Given the description of an element on the screen output the (x, y) to click on. 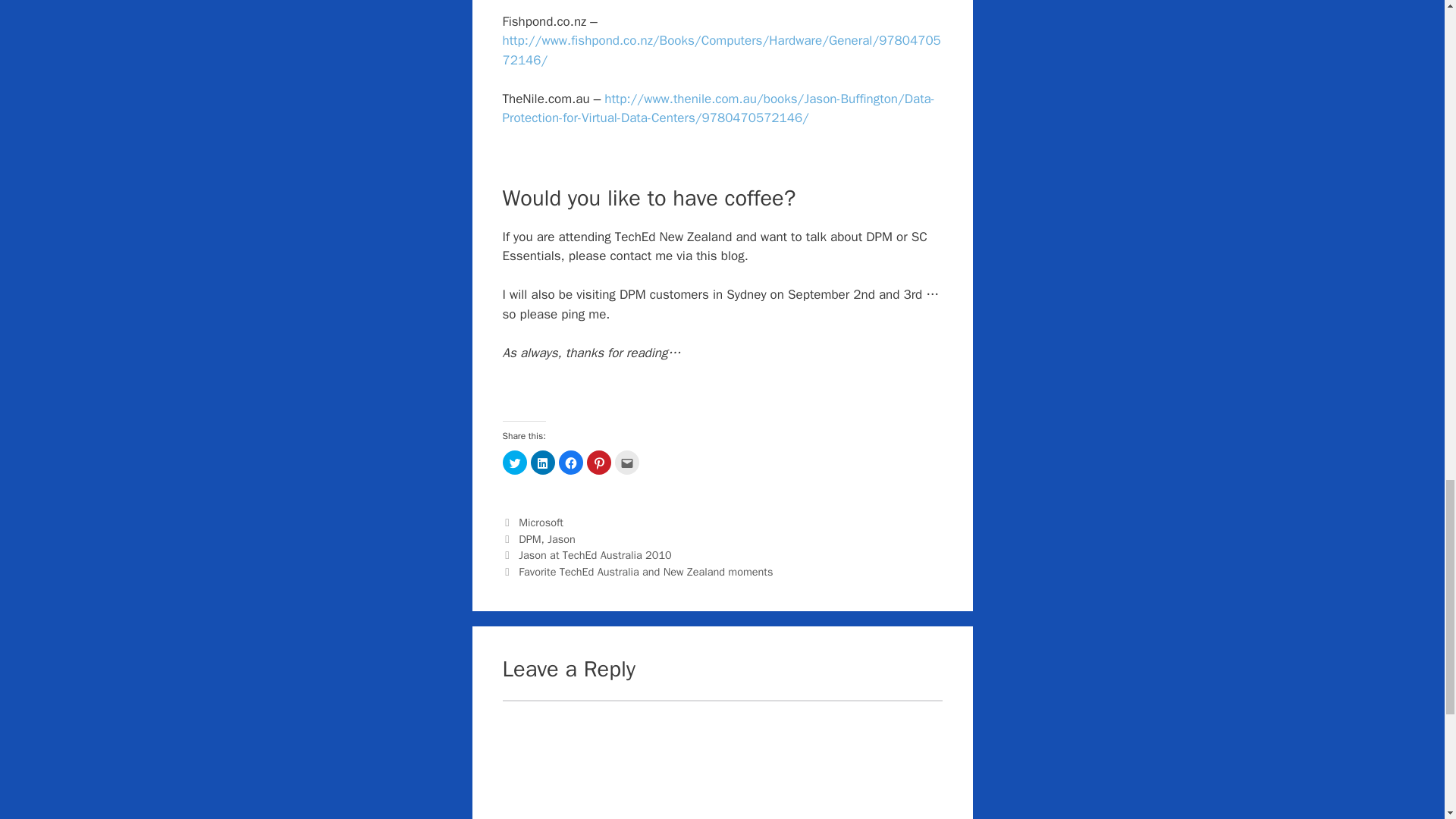
Click to share on Twitter (513, 462)
Microsoft (540, 522)
Jason at TechEd Australia 2010 (594, 554)
Jason (561, 539)
DPM (529, 539)
Click to share on Facebook (569, 462)
Favorite TechEd Australia and New Zealand moments (645, 571)
Click to share on LinkedIn (542, 462)
